Given the description of an element on the screen output the (x, y) to click on. 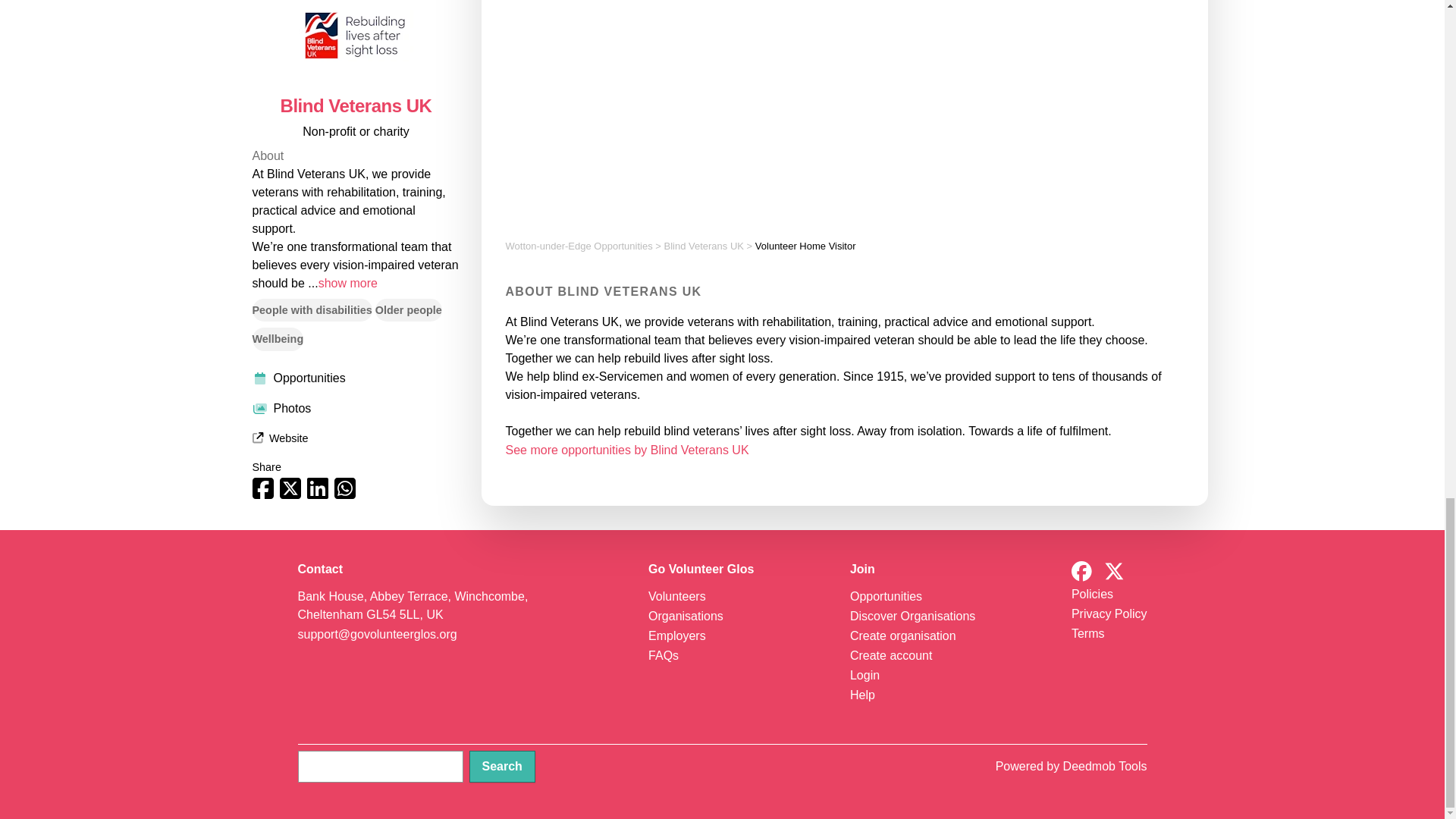
Volunteers (676, 595)
Blind Veterans UK (703, 245)
Wotton-under-Edge Opportunities (578, 245)
Organisations (685, 615)
See more opportunities by Blind Veterans UK (626, 449)
